Given the description of an element on the screen output the (x, y) to click on. 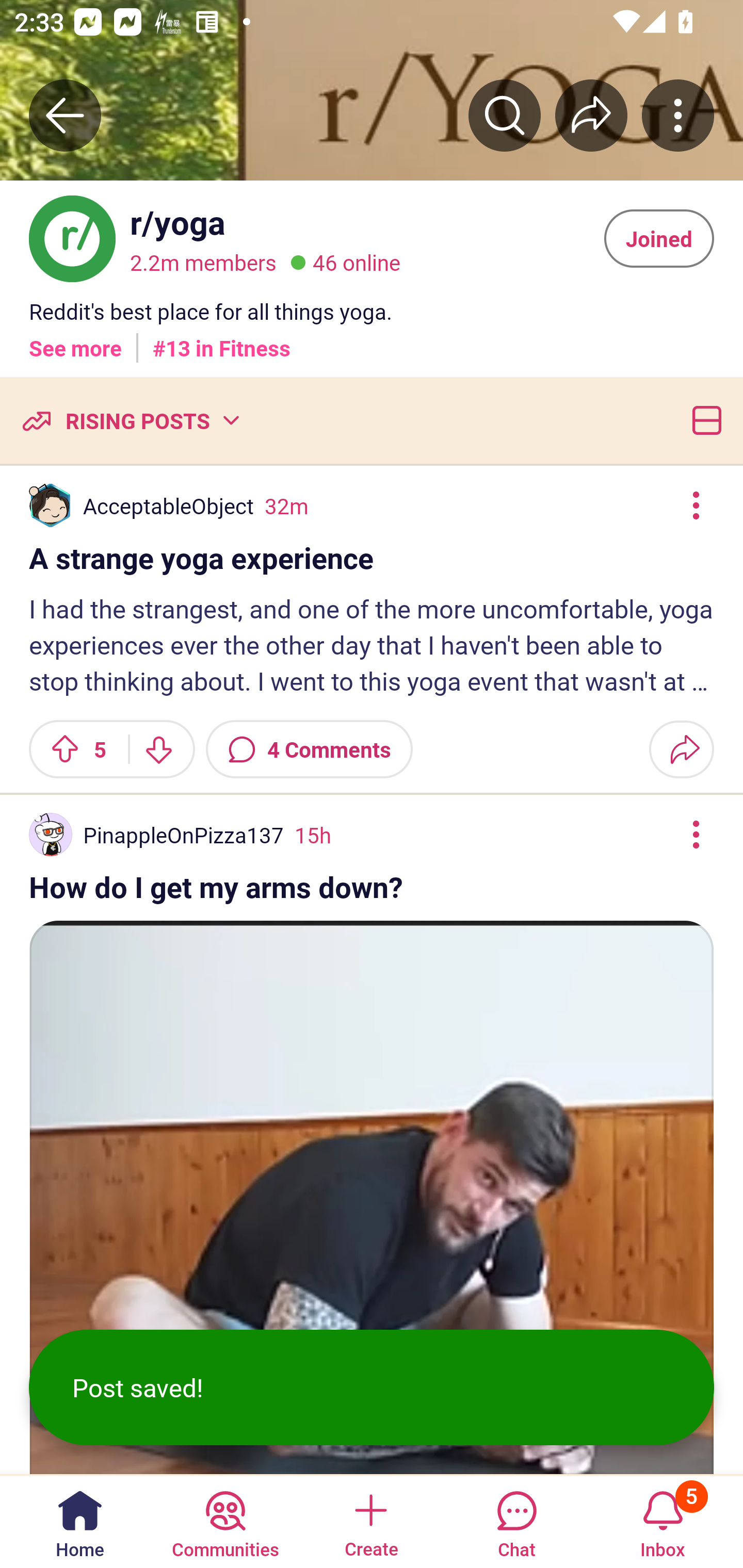
Back (64, 115)
Search r/﻿yoga (504, 115)
Share r/﻿yoga (591, 115)
More community actions (677, 115)
See more (74, 340)
#13 in Fitness (221, 340)
Rising posts RISING POSTS (130, 420)
Card (703, 420)
Home (80, 1520)
Communities (225, 1520)
Create a post Create (370, 1520)
Chat (516, 1520)
Inbox, has 5 notifications 5 Inbox (662, 1520)
